Given the description of an element on the screen output the (x, y) to click on. 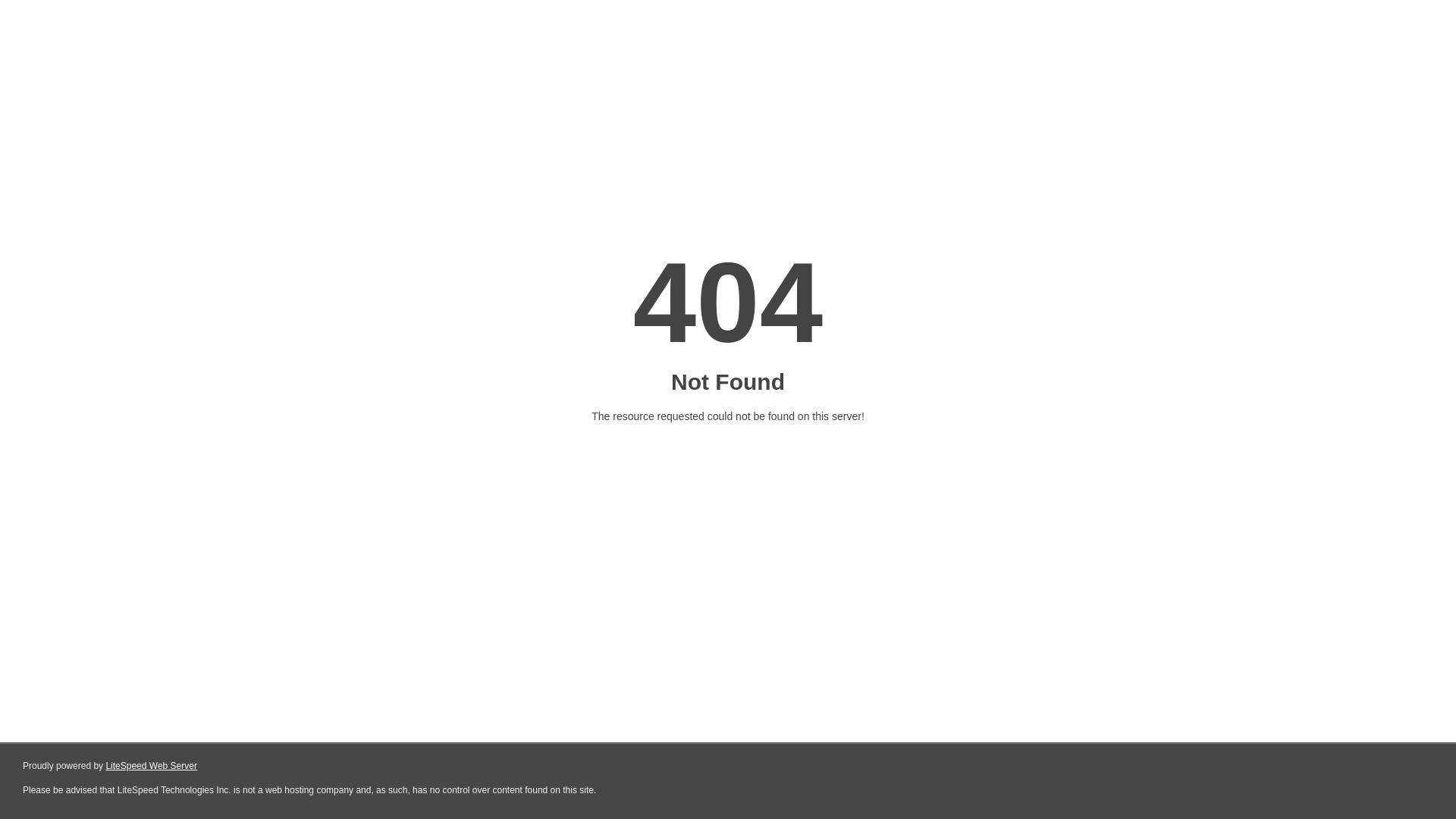
LiteSpeed Web Server Element type: text (151, 765)
